Given the description of an element on the screen output the (x, y) to click on. 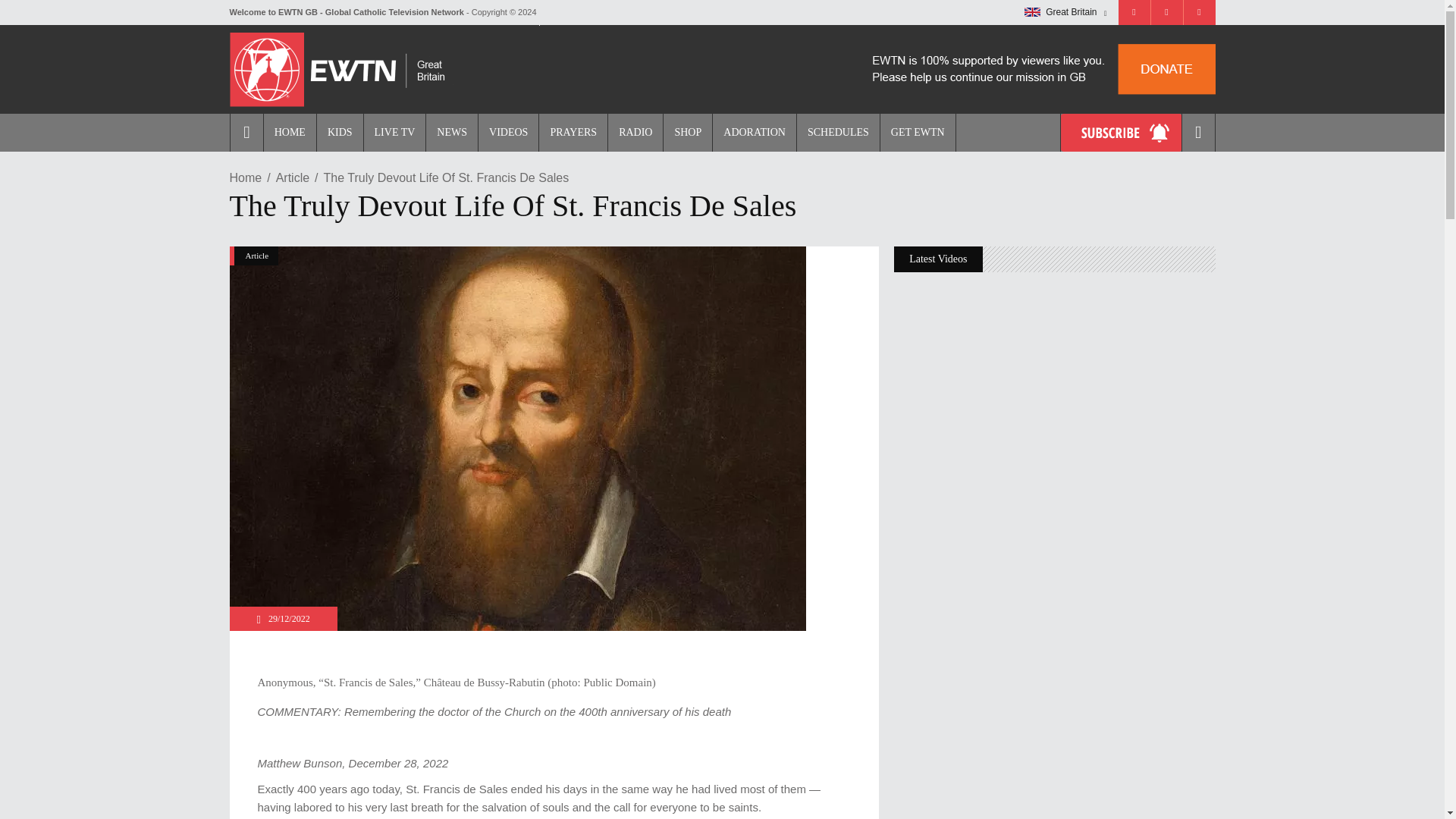
KIDS (338, 132)
  Great Britain (1065, 12)
GET EWTN (917, 132)
RADIO (634, 132)
SCHEDULES (837, 132)
HOME (289, 132)
VIDEOS (507, 132)
PRAYERS (572, 132)
NEWS (451, 132)
SHOP (686, 132)
